Given the description of an element on the screen output the (x, y) to click on. 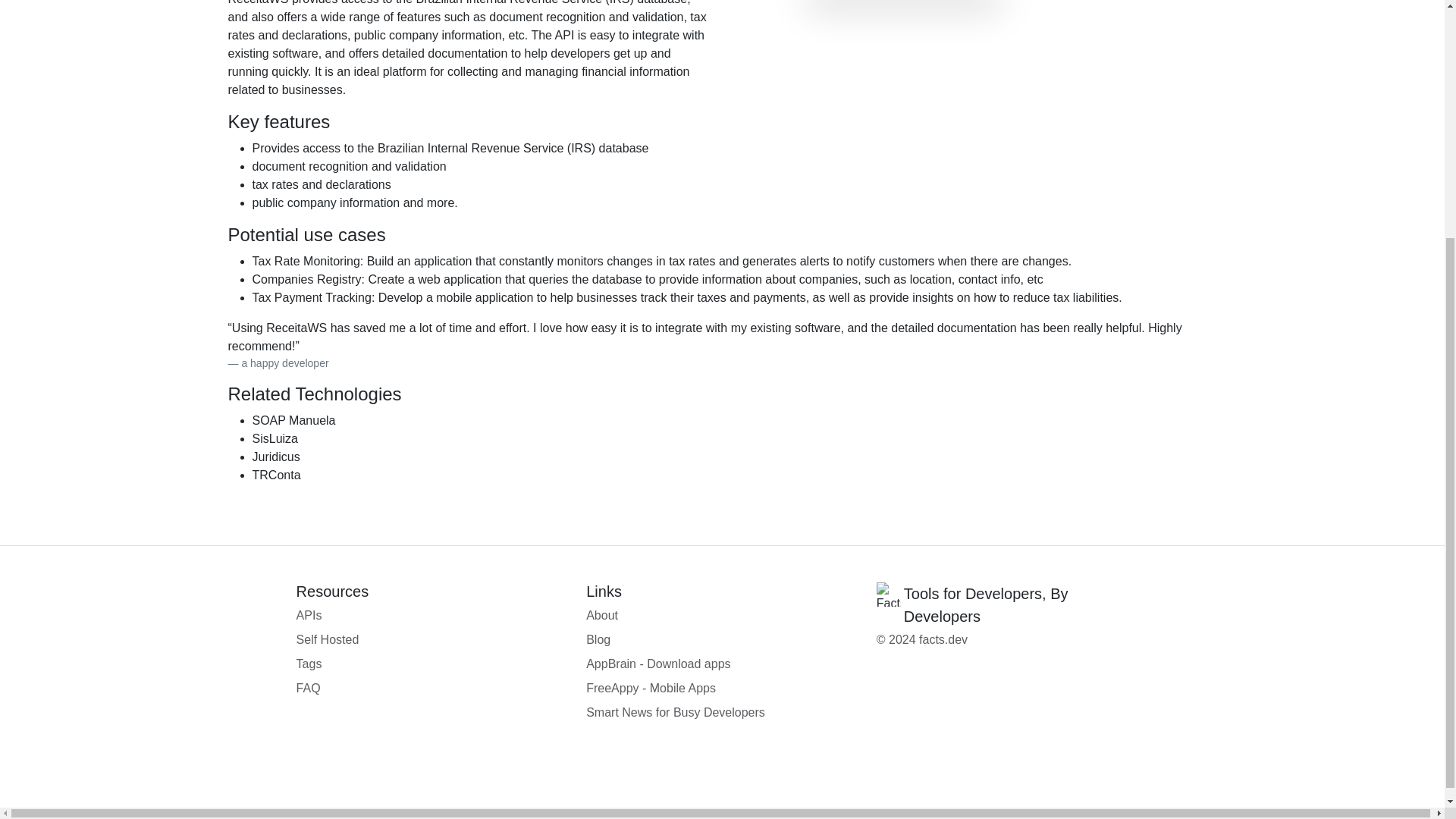
Tags (433, 664)
Blog (722, 639)
Self Hosted (433, 639)
Tools for Developers, By Developers (1012, 605)
AppBrain - Download apps (722, 664)
FAQ (433, 688)
Smart News for Busy Developers (722, 712)
FreeAppy - Mobile Apps (722, 688)
APIs (433, 615)
About (722, 615)
